Given the description of an element on the screen output the (x, y) to click on. 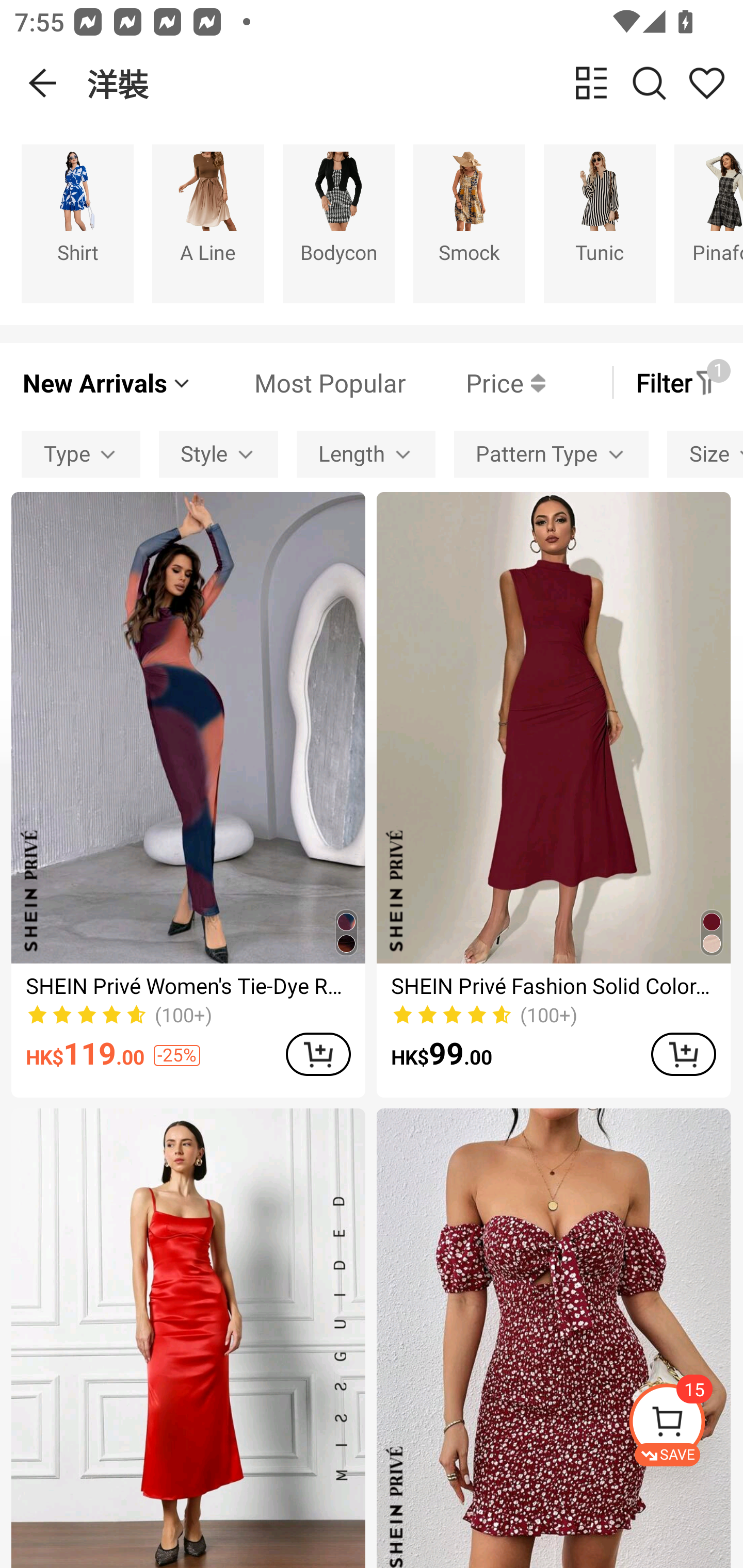
洋裝 change view Search Share (414, 82)
change view (591, 82)
Search (648, 82)
Share (706, 82)
Shirt (77, 223)
A Line (208, 223)
Bodycon (338, 223)
Smock (469, 223)
Tunic (599, 223)
Pinafore (708, 223)
New Arrivals (107, 382)
Most Popular (299, 382)
Price (475, 382)
Filter 1 (677, 382)
Type (80, 454)
Style (218, 454)
Length (365, 454)
Pattern Type (550, 454)
Size (705, 454)
ADD TO CART (318, 1054)
ADD TO CART (683, 1054)
MISSGUIDED Satin Cami Maxi Dress (188, 1338)
SAVE (685, 1424)
